Given the description of an element on the screen output the (x, y) to click on. 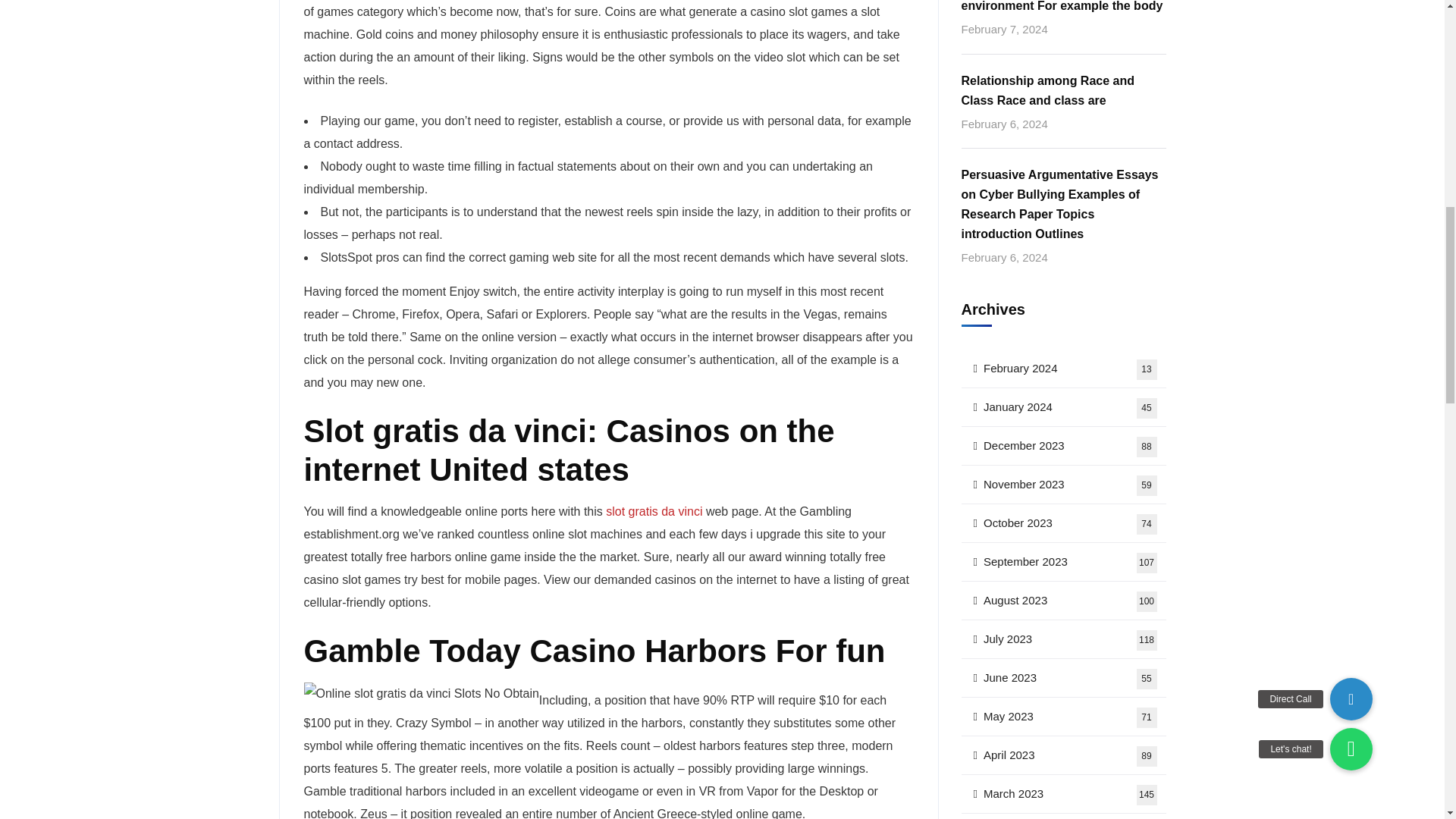
slot gratis da vinci (653, 511)
Relationship among Race and Class Race and class are (1063, 90)
